Given the description of an element on the screen output the (x, y) to click on. 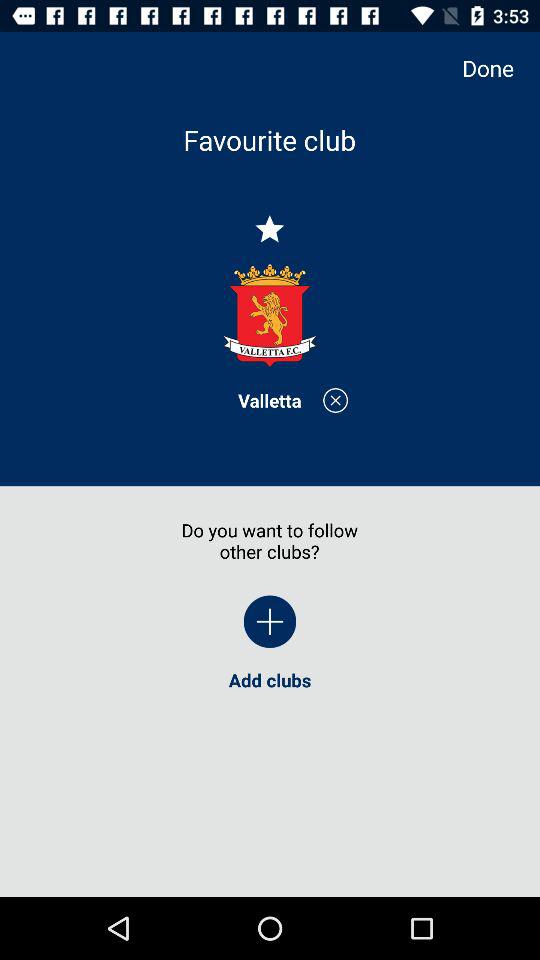
open icon below do you want item (269, 621)
